Given the description of an element on the screen output the (x, y) to click on. 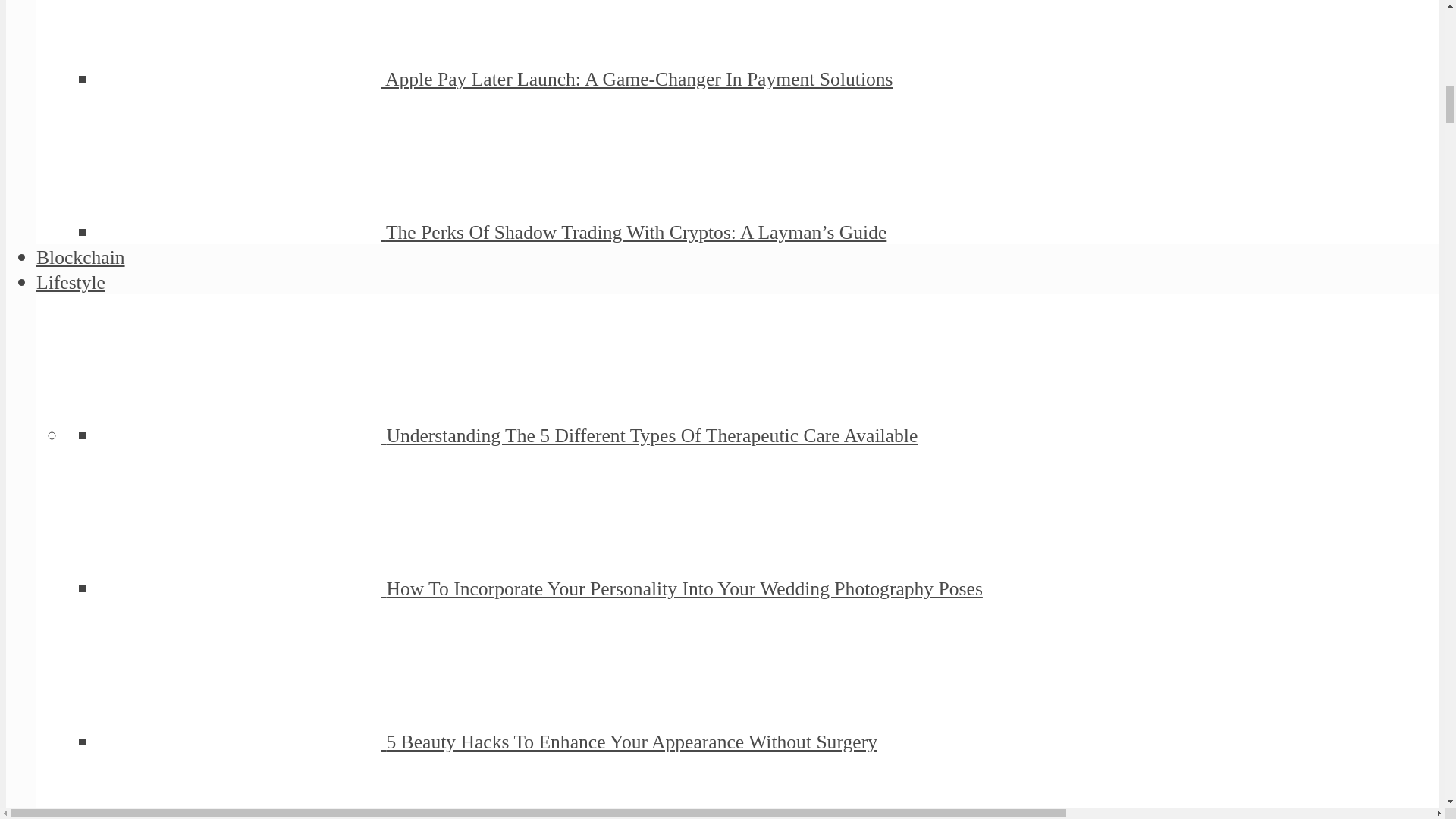
Apple Pay Later Launch: A Game-Changer In Payment Solutions (639, 78)
Blockchain (80, 257)
Lifestyle (70, 282)
5 Beauty Hacks To Enhance Your Appearance Without Surgery (631, 741)
